Given the description of an element on the screen output the (x, y) to click on. 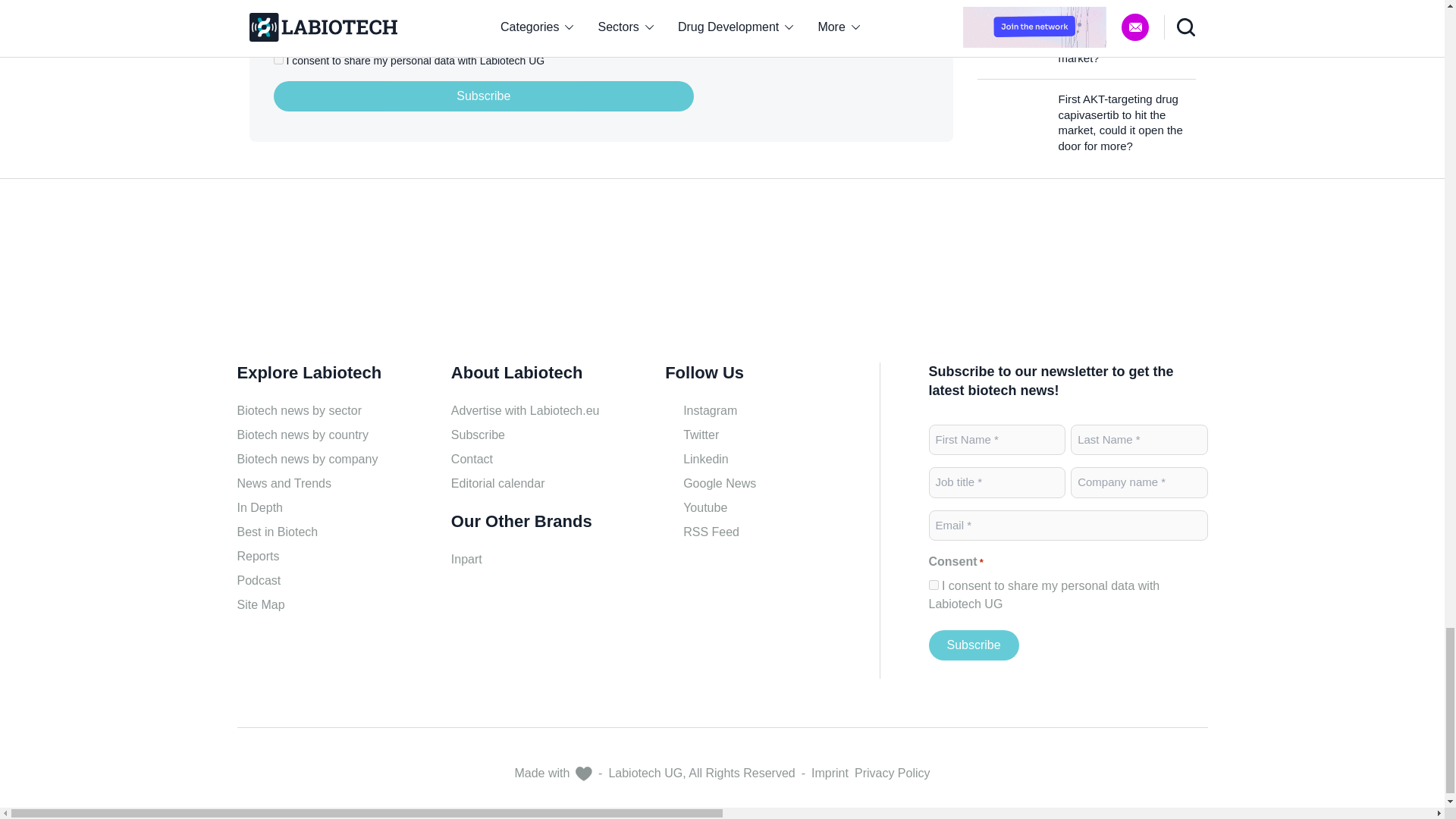
Labiotech.eu (834, 71)
Subscribe (483, 96)
1 (277, 59)
1 (932, 584)
Subscribe (972, 644)
Labiotech.eu (309, 276)
